Given the description of an element on the screen output the (x, y) to click on. 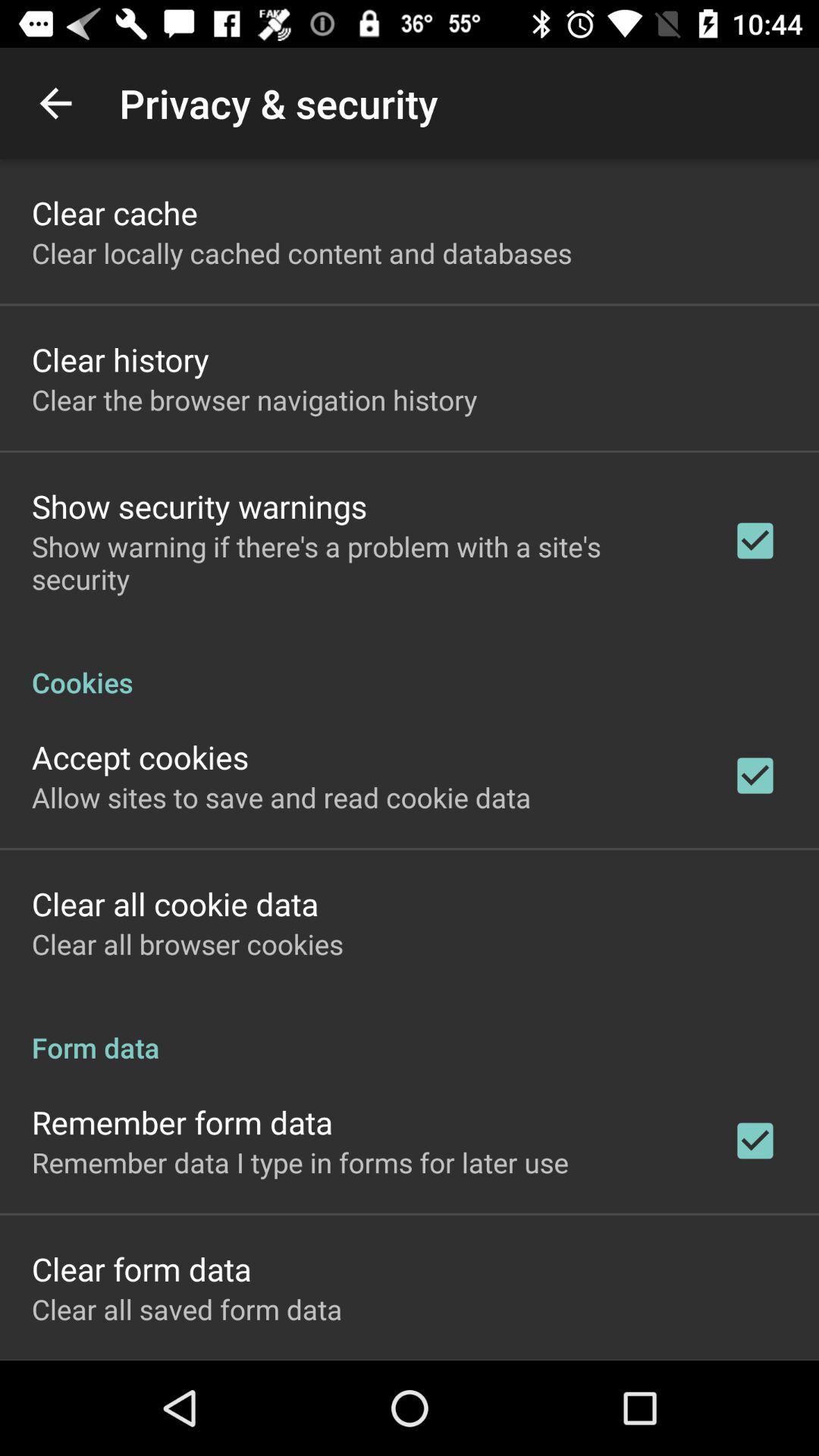
choose allow sites to app (281, 797)
